Given the description of an element on the screen output the (x, y) to click on. 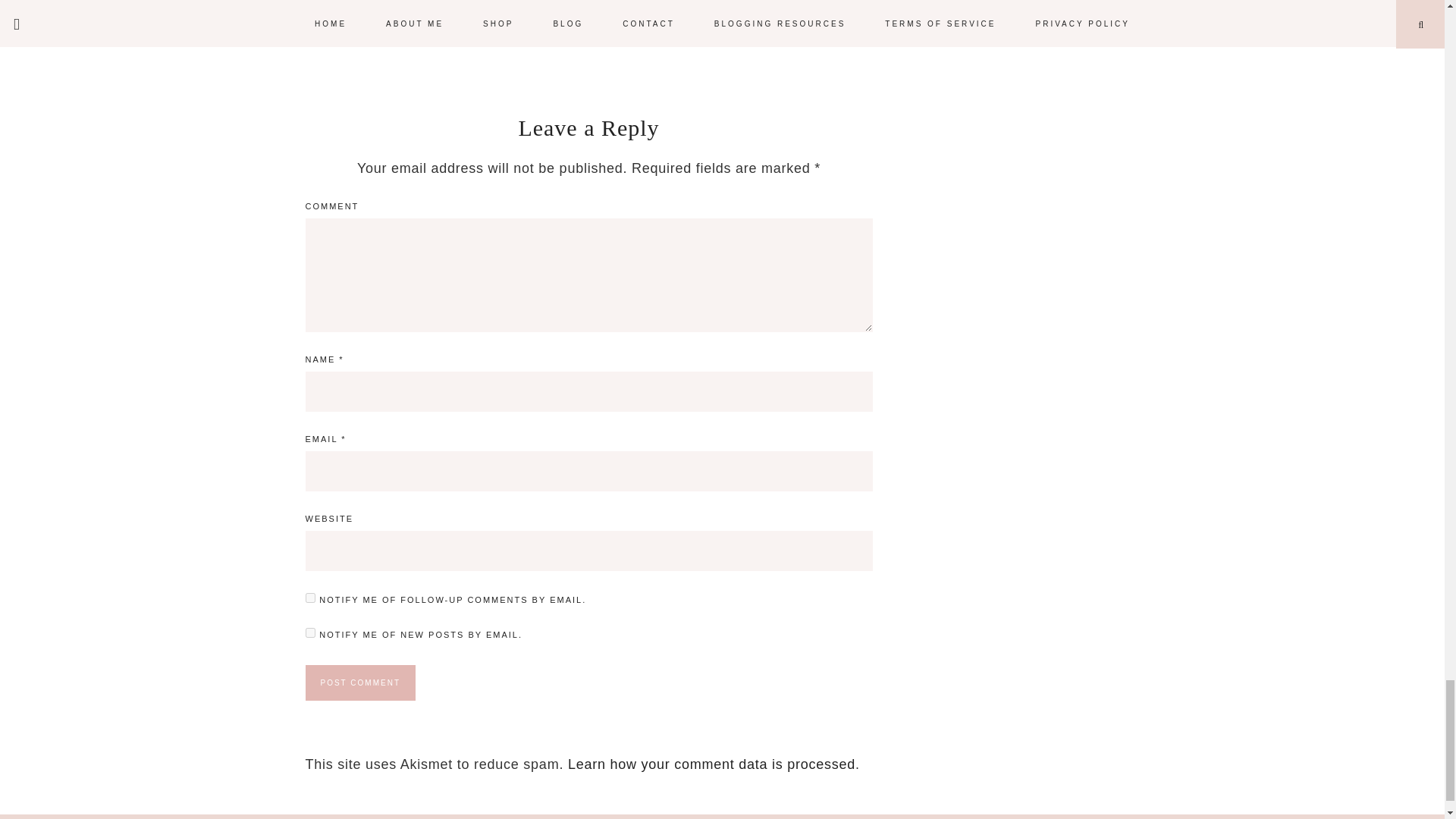
subscribe (309, 633)
subscribe (309, 597)
Post Comment (359, 683)
